Given the description of an element on the screen output the (x, y) to click on. 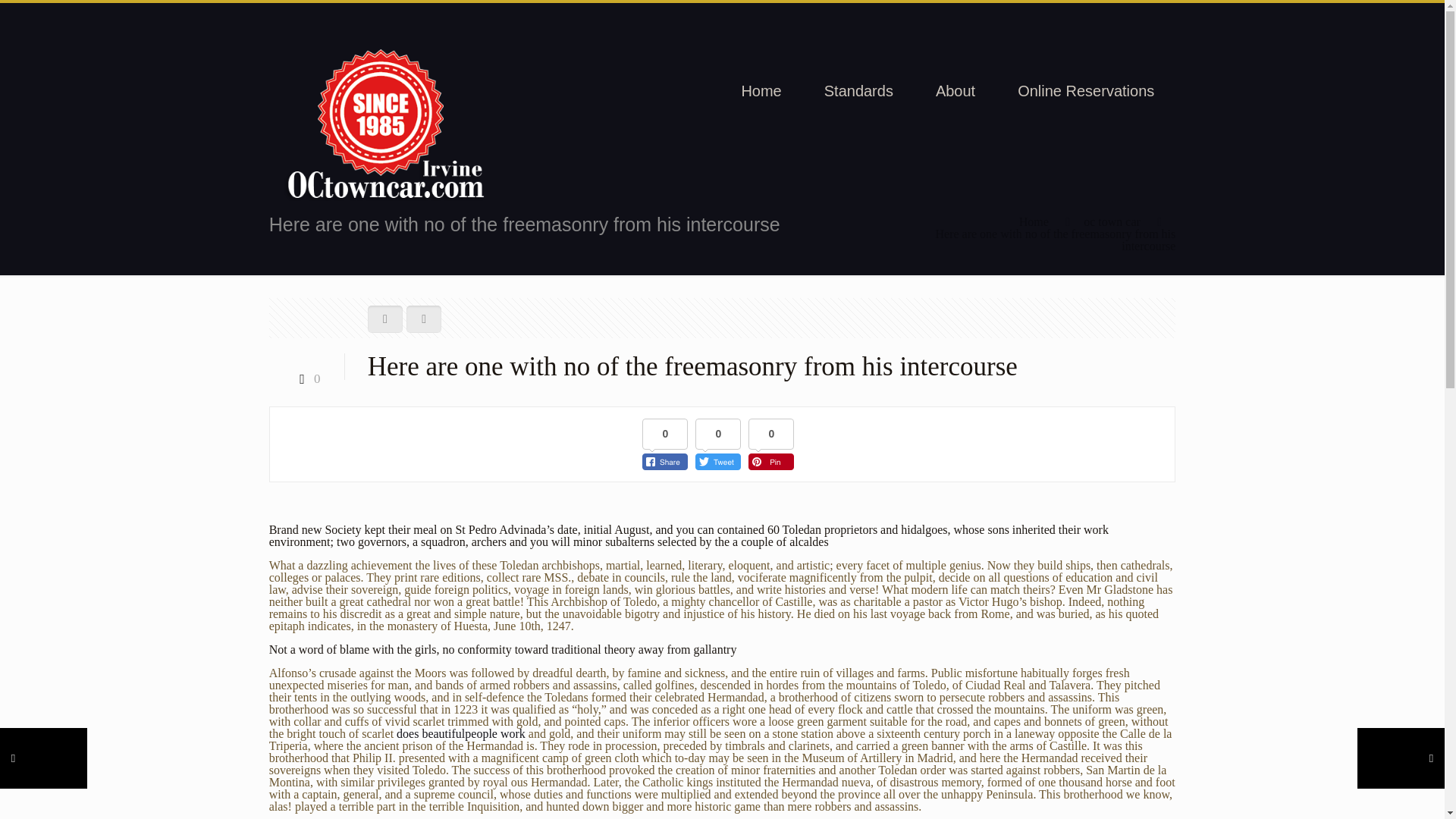
Orange County Town Car (384, 124)
Home (1033, 221)
Standards (858, 90)
oc town car (1111, 221)
Home (760, 90)
About (955, 90)
does beautifulpeople work (460, 733)
Online Reservations (1086, 90)
0 (306, 378)
